Given the description of an element on the screen output the (x, y) to click on. 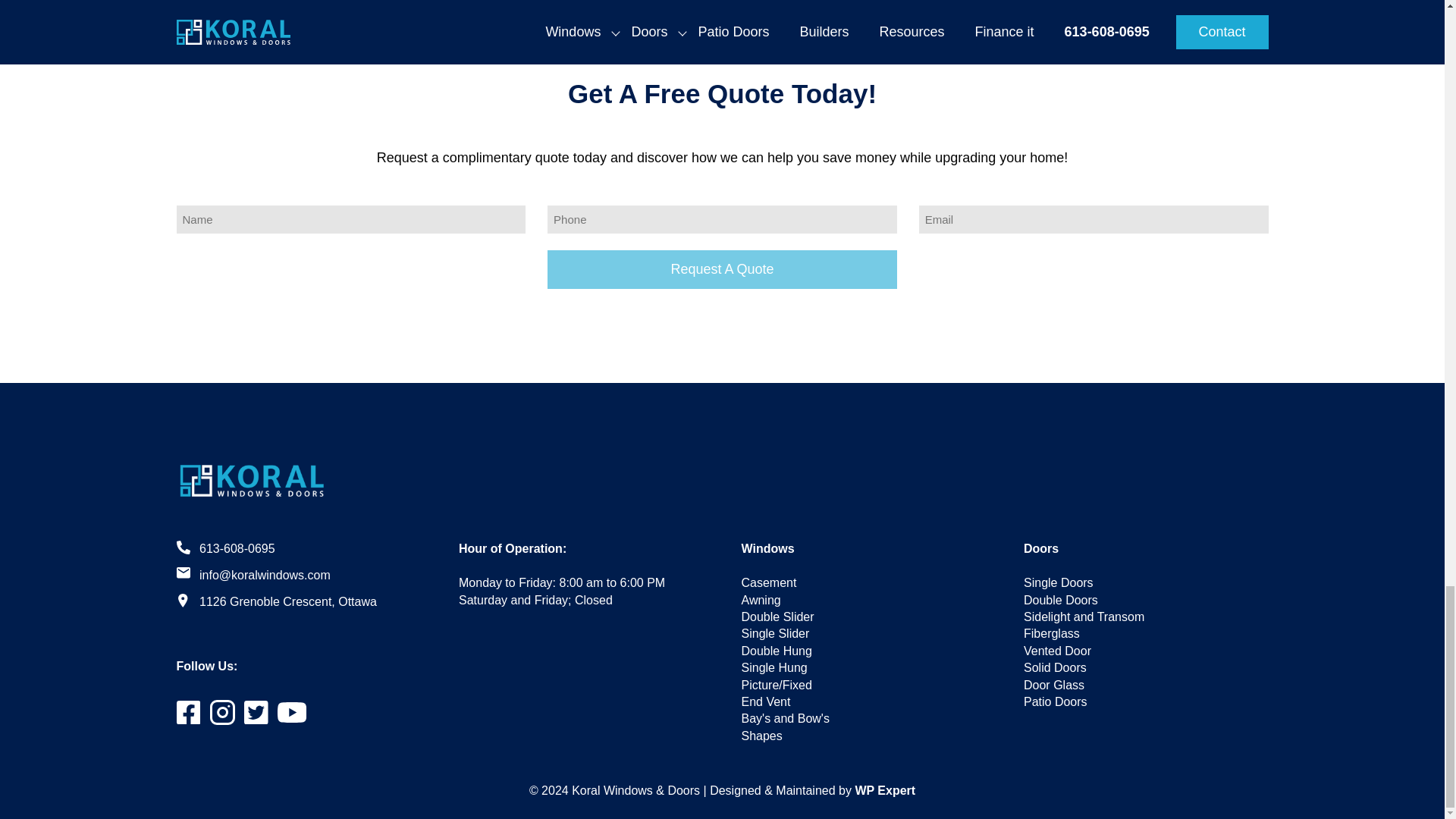
Request A Quote (721, 269)
